Given the description of an element on the screen output the (x, y) to click on. 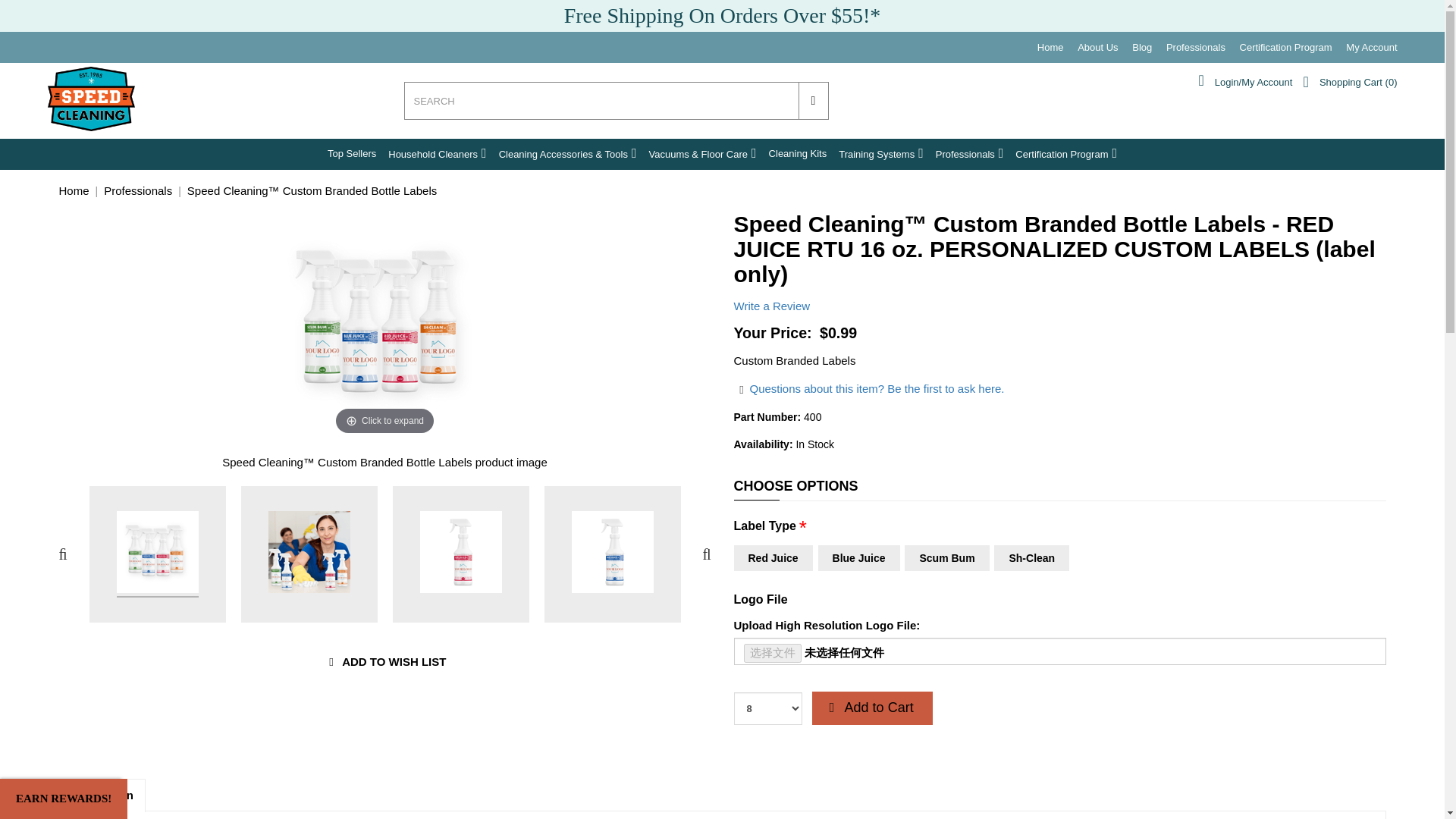
Blue Juice (858, 557)
Red Juice (772, 557)
About Us (1097, 47)
Sh-Clean (1031, 557)
Home (1050, 47)
Top Sellers (351, 153)
My Account (1370, 47)
Scum Bum (946, 557)
